Given the description of an element on the screen output the (x, y) to click on. 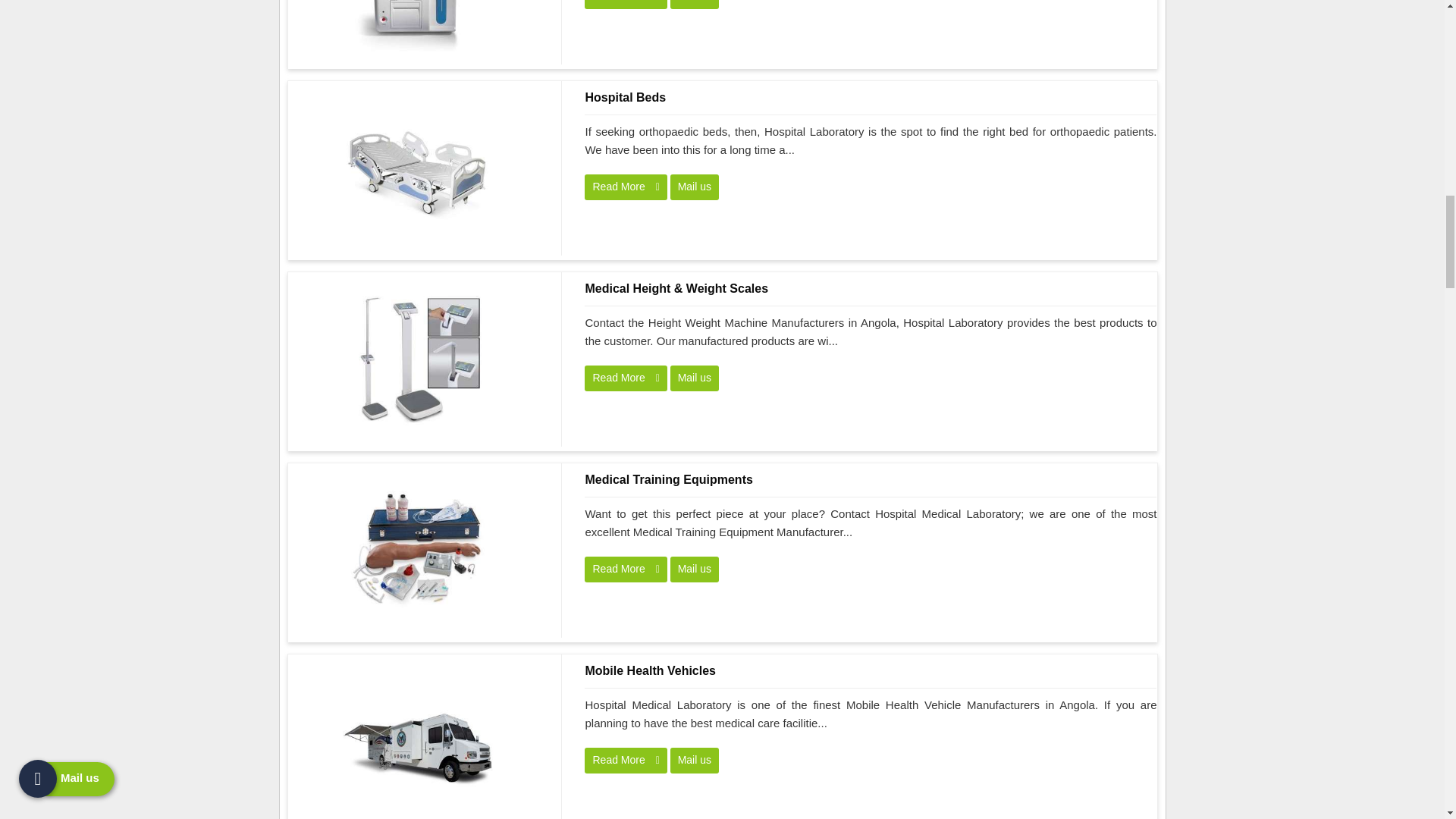
Read More (625, 378)
Mail us (694, 186)
Medical Training Equipments (870, 479)
Hospital Beds (870, 97)
Read More (625, 4)
Read More (625, 569)
Mail us (694, 4)
Mail us (694, 378)
Read More (625, 186)
